Given the description of an element on the screen output the (x, y) to click on. 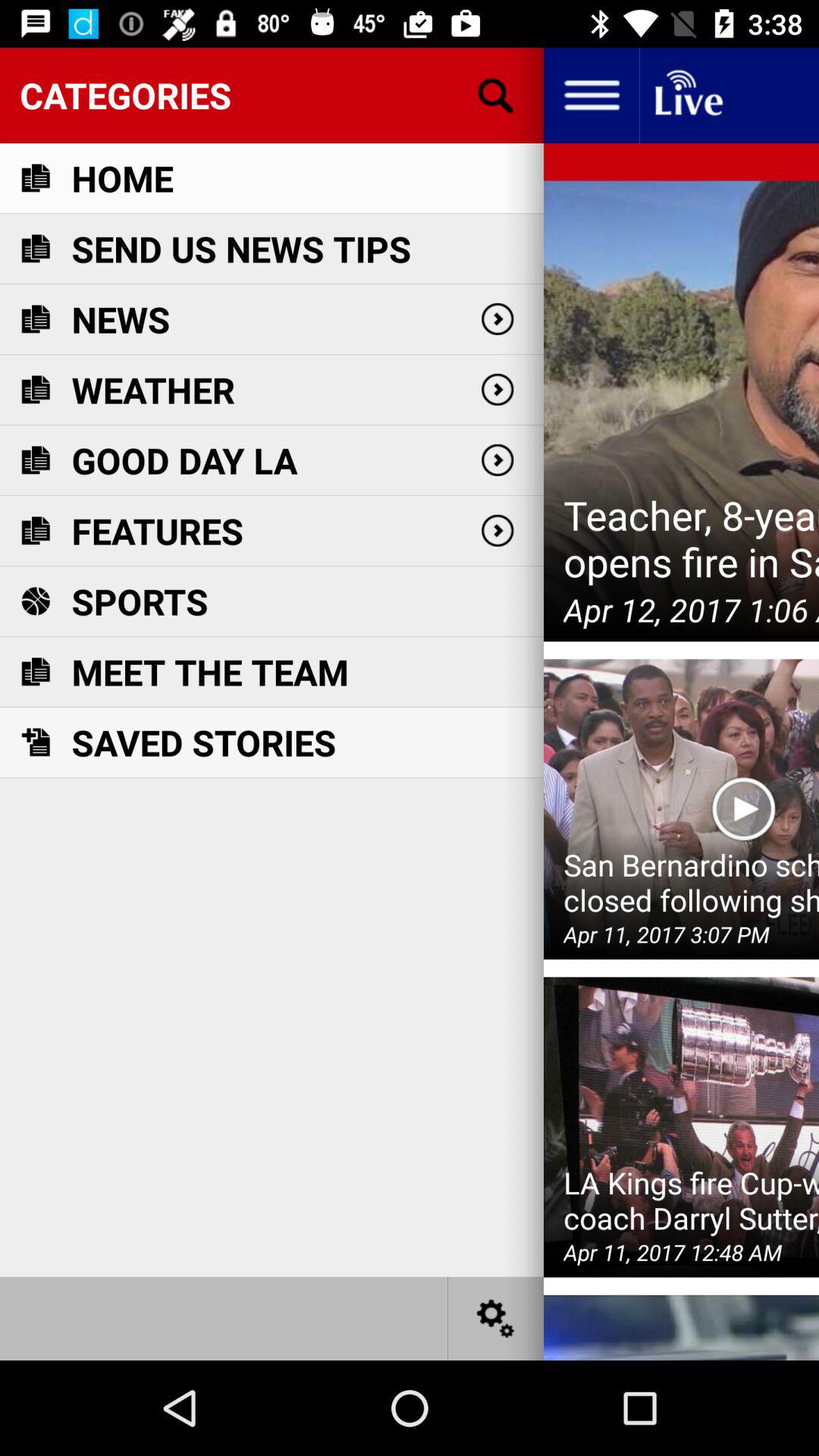
turn off the icon next to home (495, 95)
